Given the description of an element on the screen output the (x, y) to click on. 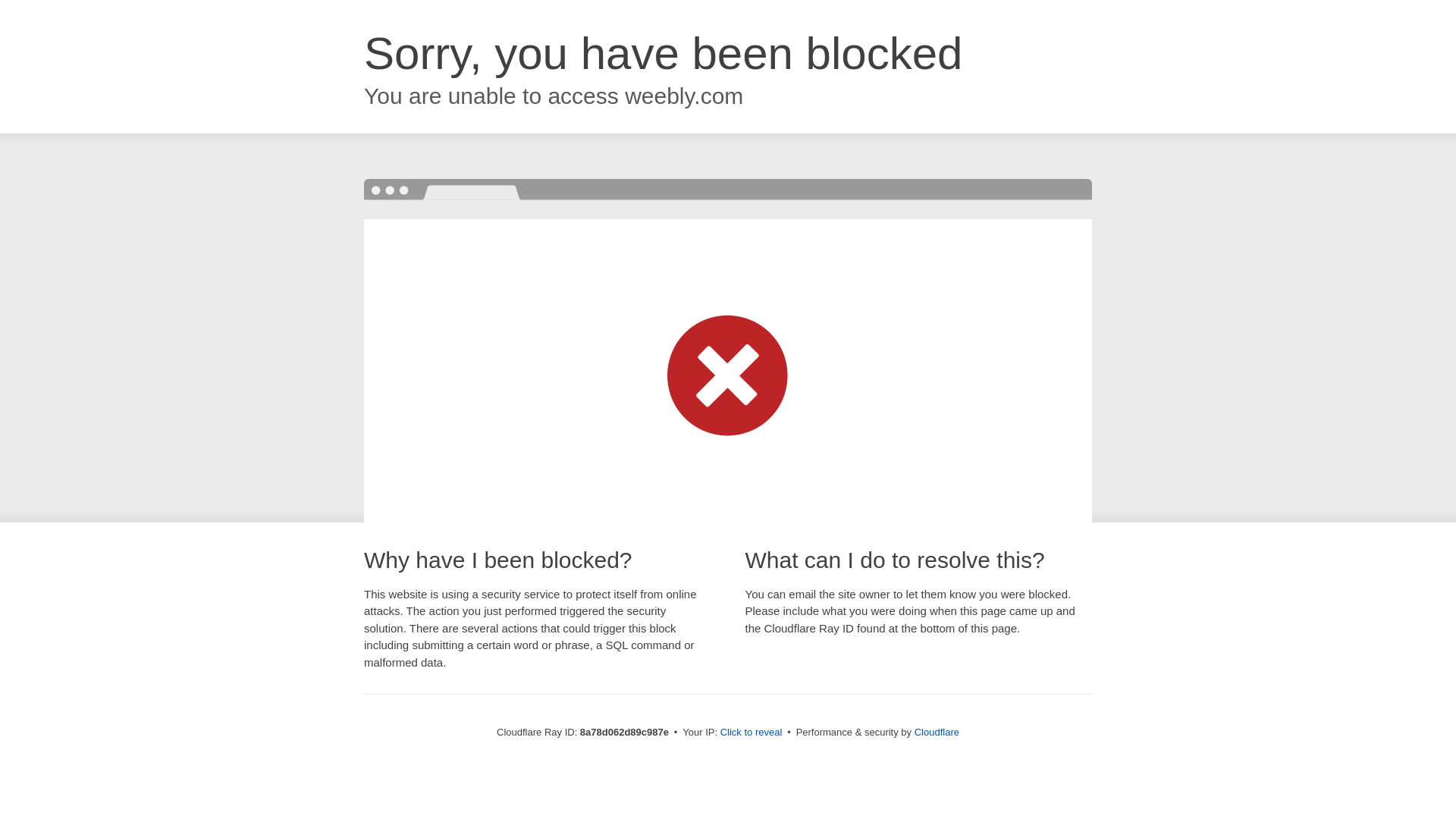
Cloudflare (936, 731)
Click to reveal (751, 732)
